Given the description of an element on the screen output the (x, y) to click on. 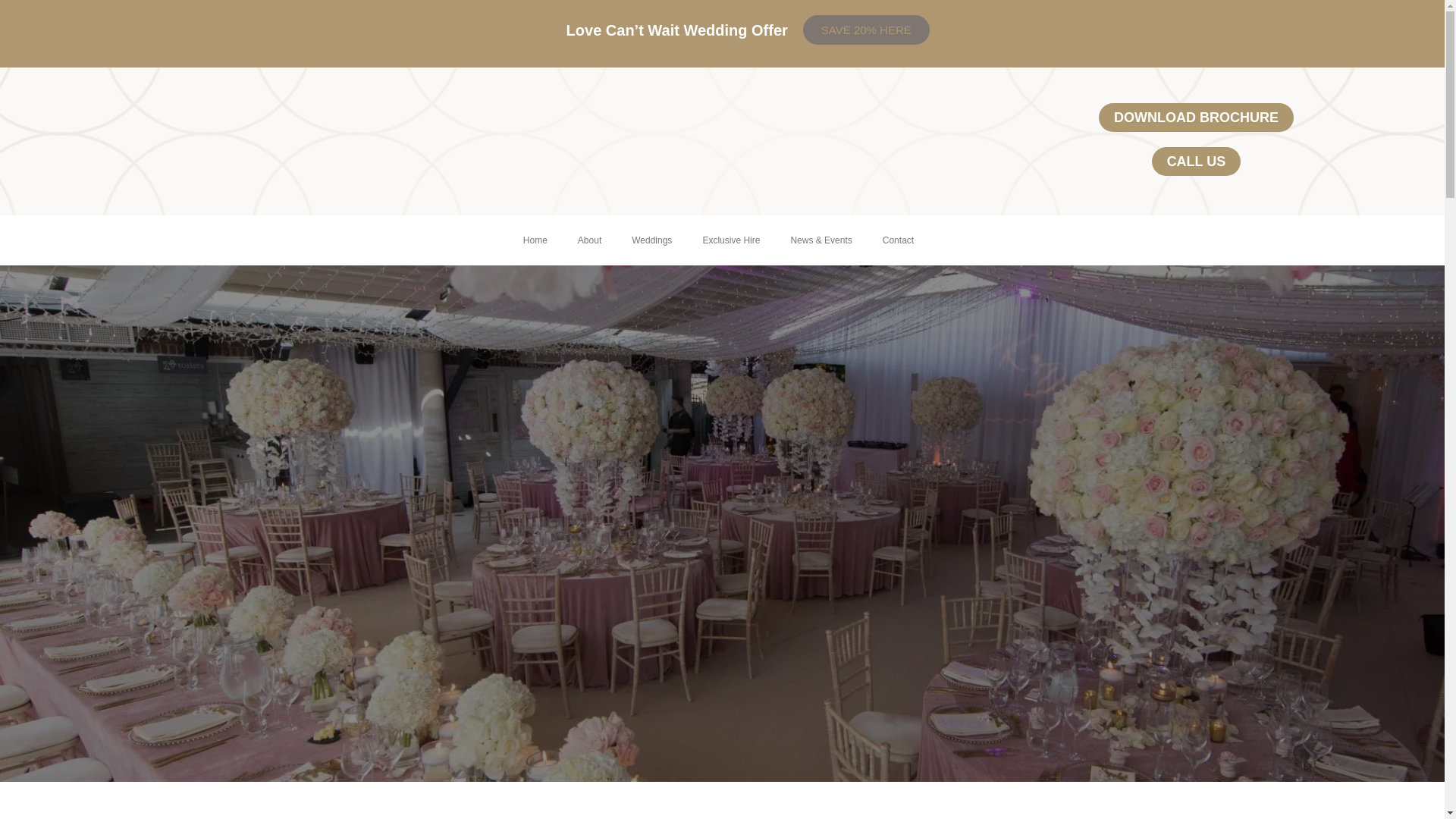
DOWNLOAD BROCHURE (1196, 117)
Contact (897, 239)
CALL US (1196, 161)
Home (535, 239)
About (588, 239)
Exclusive Hire (730, 239)
Weddings (651, 239)
